Given the description of an element on the screen output the (x, y) to click on. 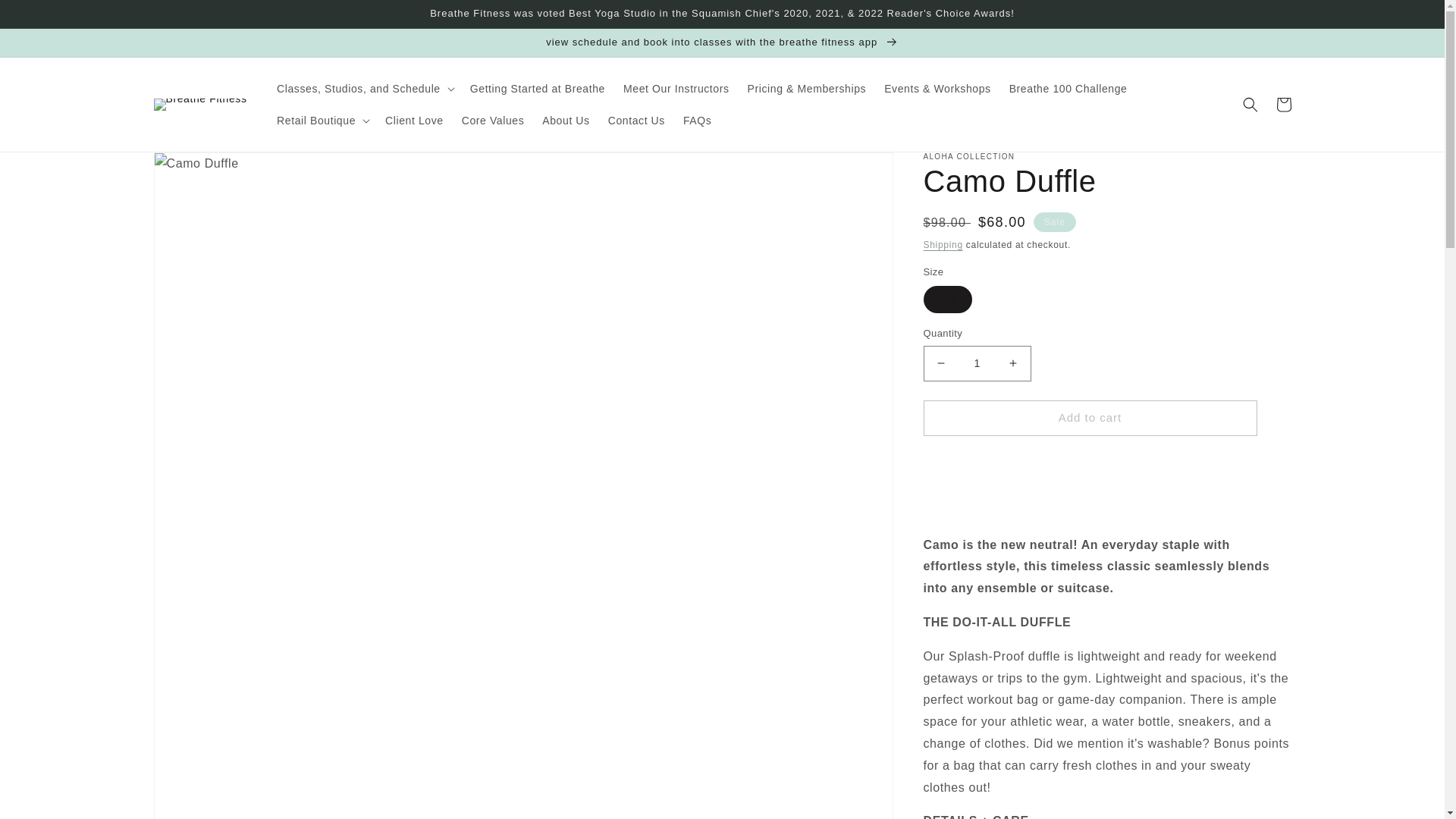
1 (976, 363)
Skip to content (45, 17)
